Given the description of an element on the screen output the (x, y) to click on. 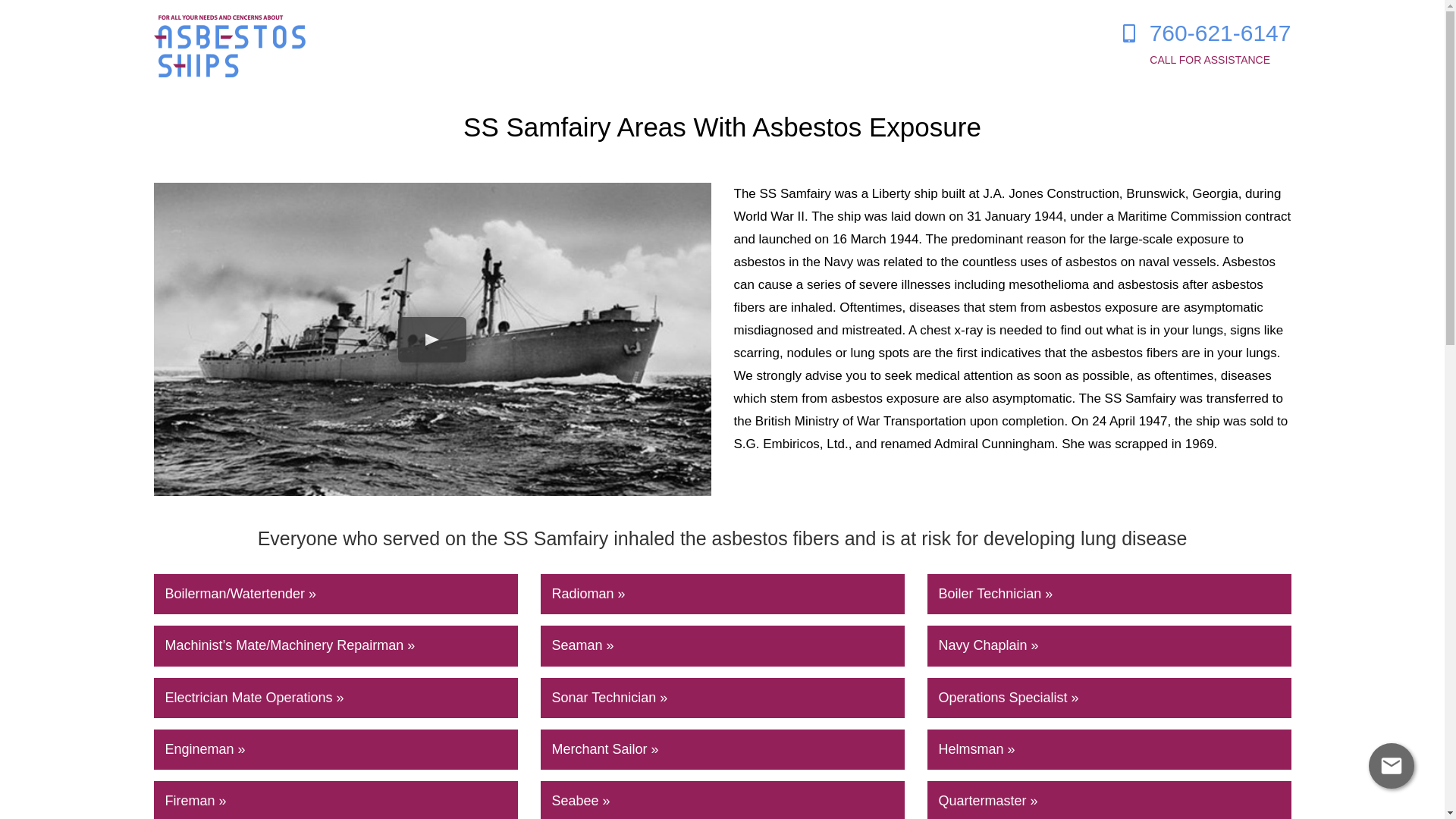
Leave a message (1206, 43)
